Given the description of an element on the screen output the (x, y) to click on. 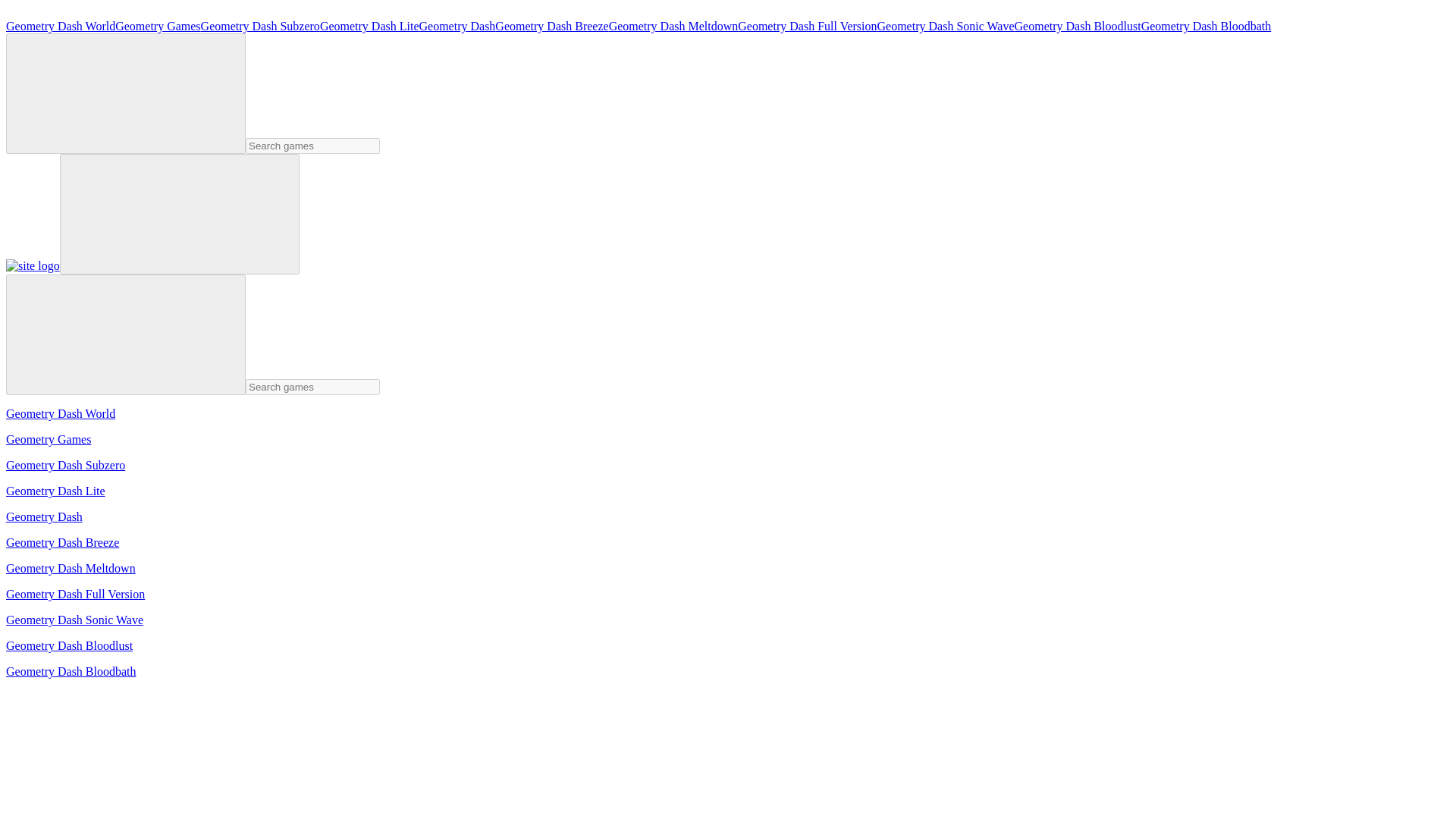
Geometry Games (157, 25)
Geometry Dash (457, 25)
Geometry Dash Bloodlust (1077, 25)
Geometry Dash Lite (369, 25)
Geometry Dash Bloodbath (1206, 25)
Geometry Dash Subzero (260, 25)
Geometry Dash Meltdown (673, 25)
Geometry Dash World (60, 25)
Geometry Dash Breeze (551, 25)
Geometry Dash Sonic Wave (945, 25)
